Given the description of an element on the screen output the (x, y) to click on. 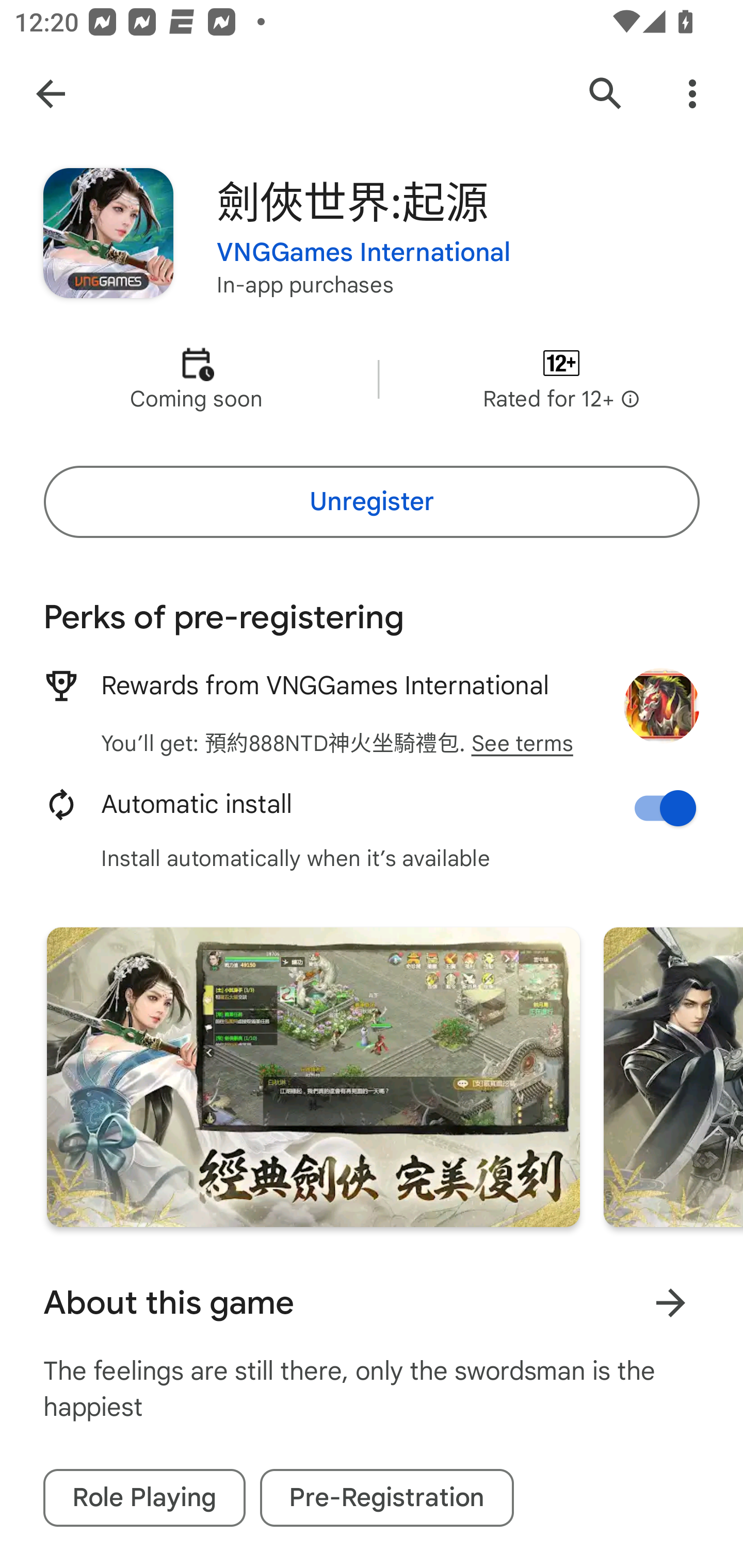
Navigate up (50, 93)
Search Google Play (605, 93)
More Options (692, 93)
VNGGames International (363, 253)
Content rating Rated for 12+ (561, 379)
Unregister (371, 501)
Screenshot "1" of "5" (313, 1076)
Screenshot "2" of "5" (673, 1076)
About this game Learn more About this game (371, 1302)
Learn more About this game (670, 1302)
Role Playing tag (144, 1498)
Pre-Registration tag (387, 1498)
